Given the description of an element on the screen output the (x, y) to click on. 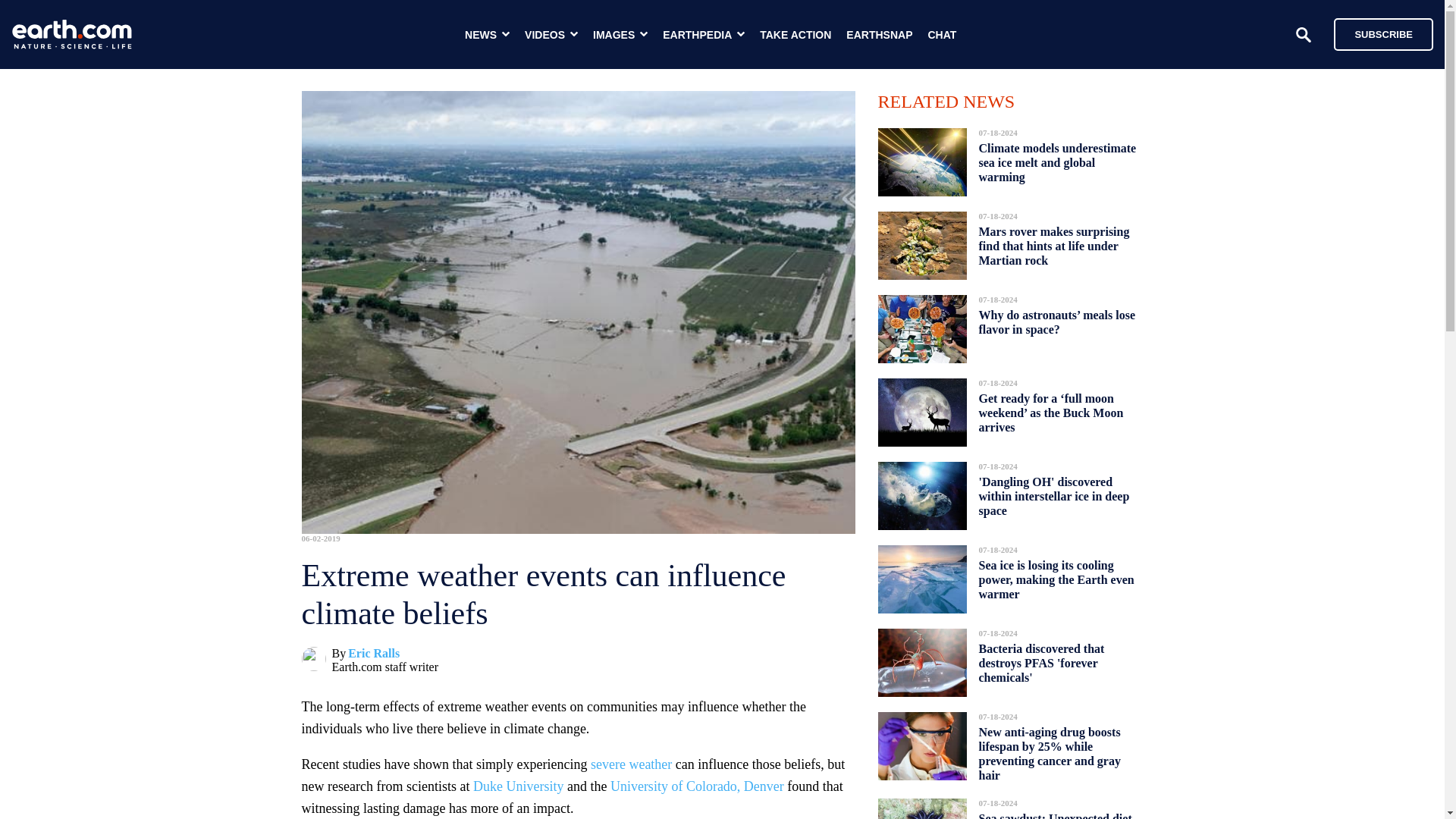
SUBSCRIBE (1382, 34)
severe weather (631, 764)
SUBSCRIBE (1375, 33)
Bacteria discovered that destroys PFAS 'forever chemicals' (1040, 662)
Eric Ralls (372, 653)
University of Colorado, Denver (697, 785)
Duke University (518, 785)
Sea sawdust: Unexpected diet of crown-of-thorns starfish (1054, 811)
EARTHSNAP (878, 34)
CHAT (941, 34)
TAKE ACTION (795, 34)
Climate models underestimate sea ice melt and global warming (1056, 162)
